Given the description of an element on the screen output the (x, y) to click on. 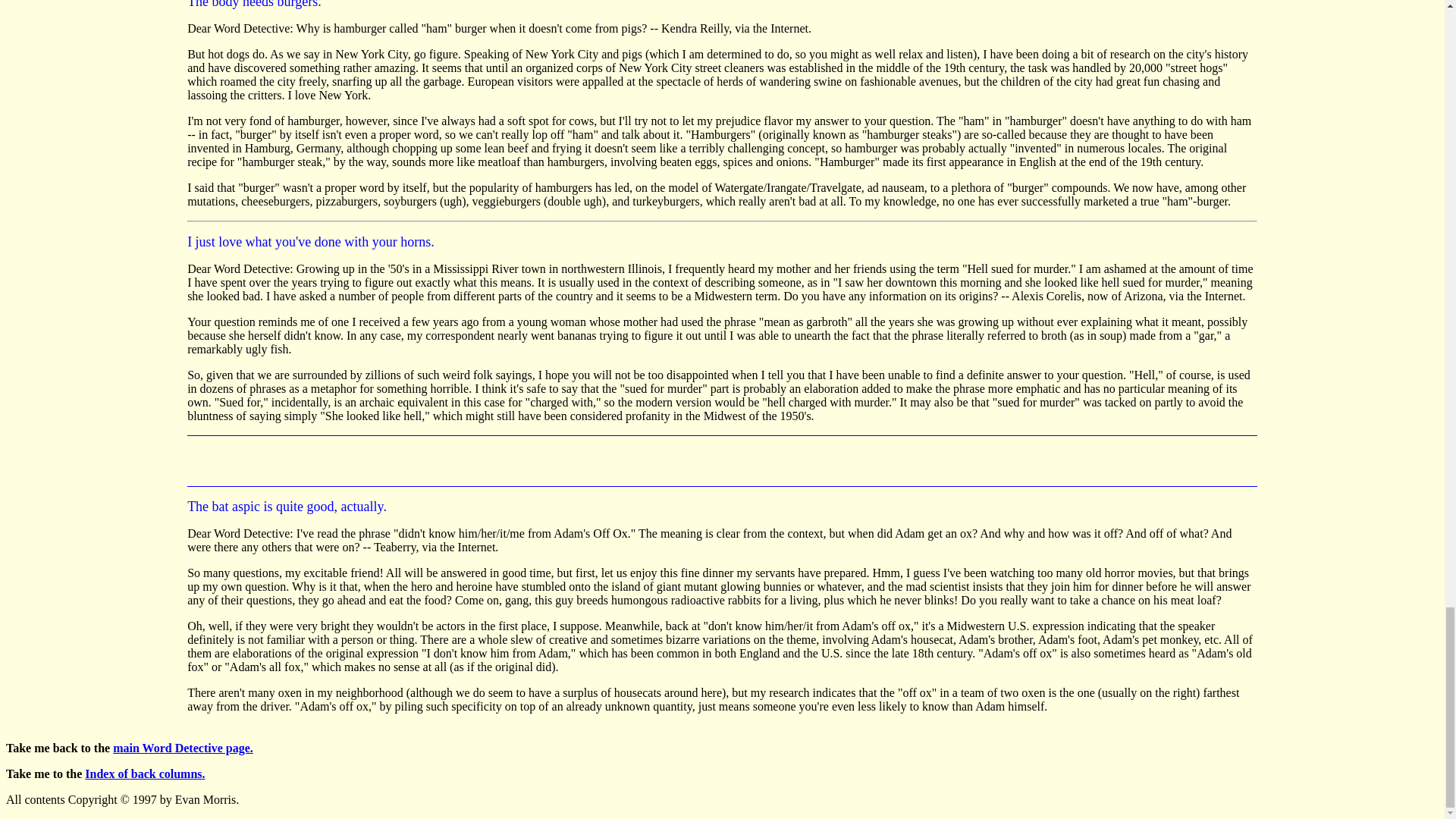
I just love what you've done with your horns. (310, 241)
main Word Detective page. (183, 748)
The body needs burgers. (254, 4)
Index of back columns. (144, 773)
The bat aspic is quite good, actually. (287, 506)
